Given the description of an element on the screen output the (x, y) to click on. 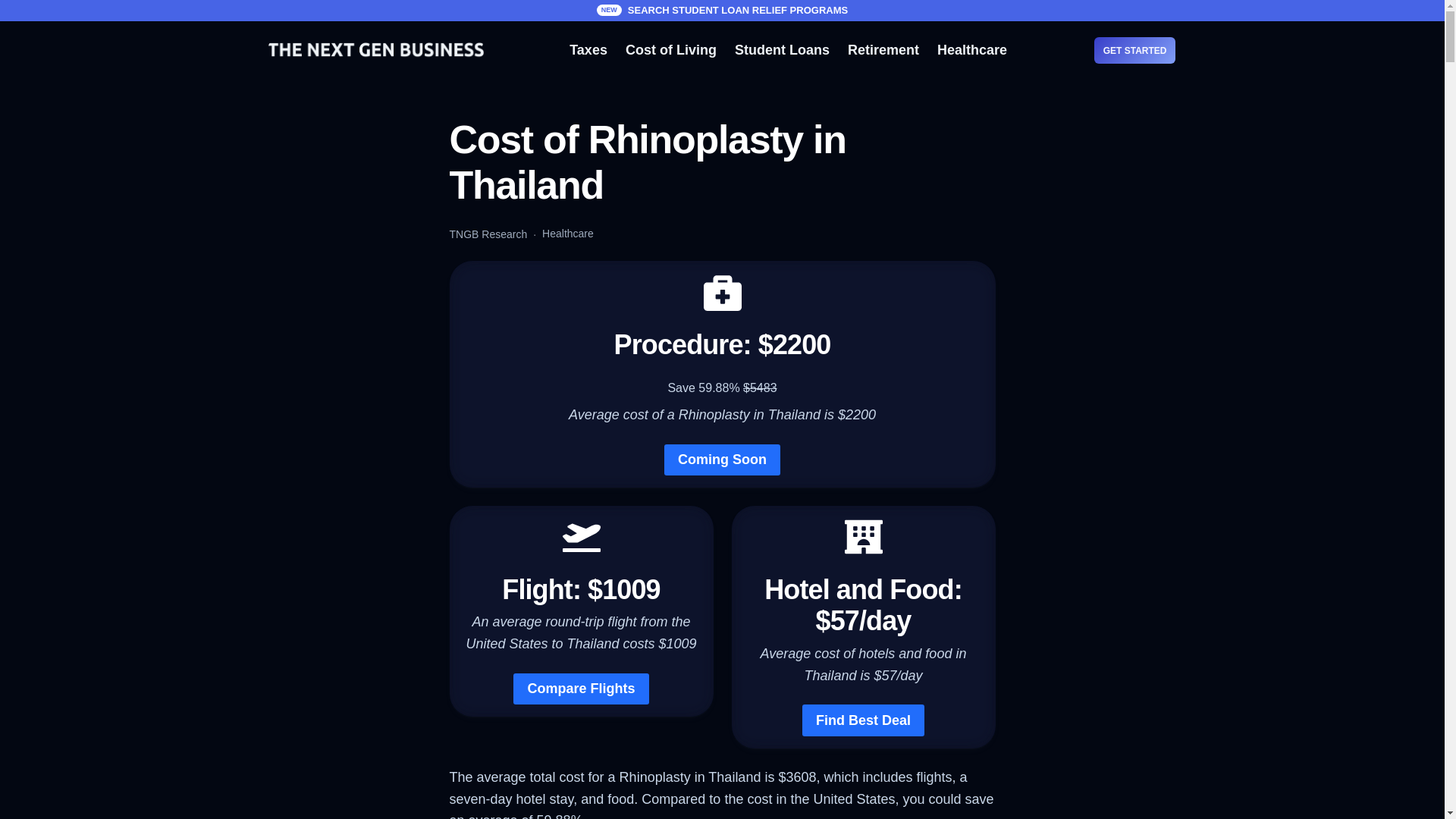
Cost of Living (671, 50)
Student Loans (782, 50)
GET STARTED (1135, 49)
Compare Flights (580, 688)
Taxes (588, 50)
TNGB Research (487, 233)
SEARCH STUDENT LOAN RELIEF PROGRAMS (737, 9)
Coming Soon (721, 459)
Find Best Deal (863, 719)
Healthcare (567, 233)
Healthcare (972, 50)
Retirement (882, 50)
